Given the description of an element on the screen output the (x, y) to click on. 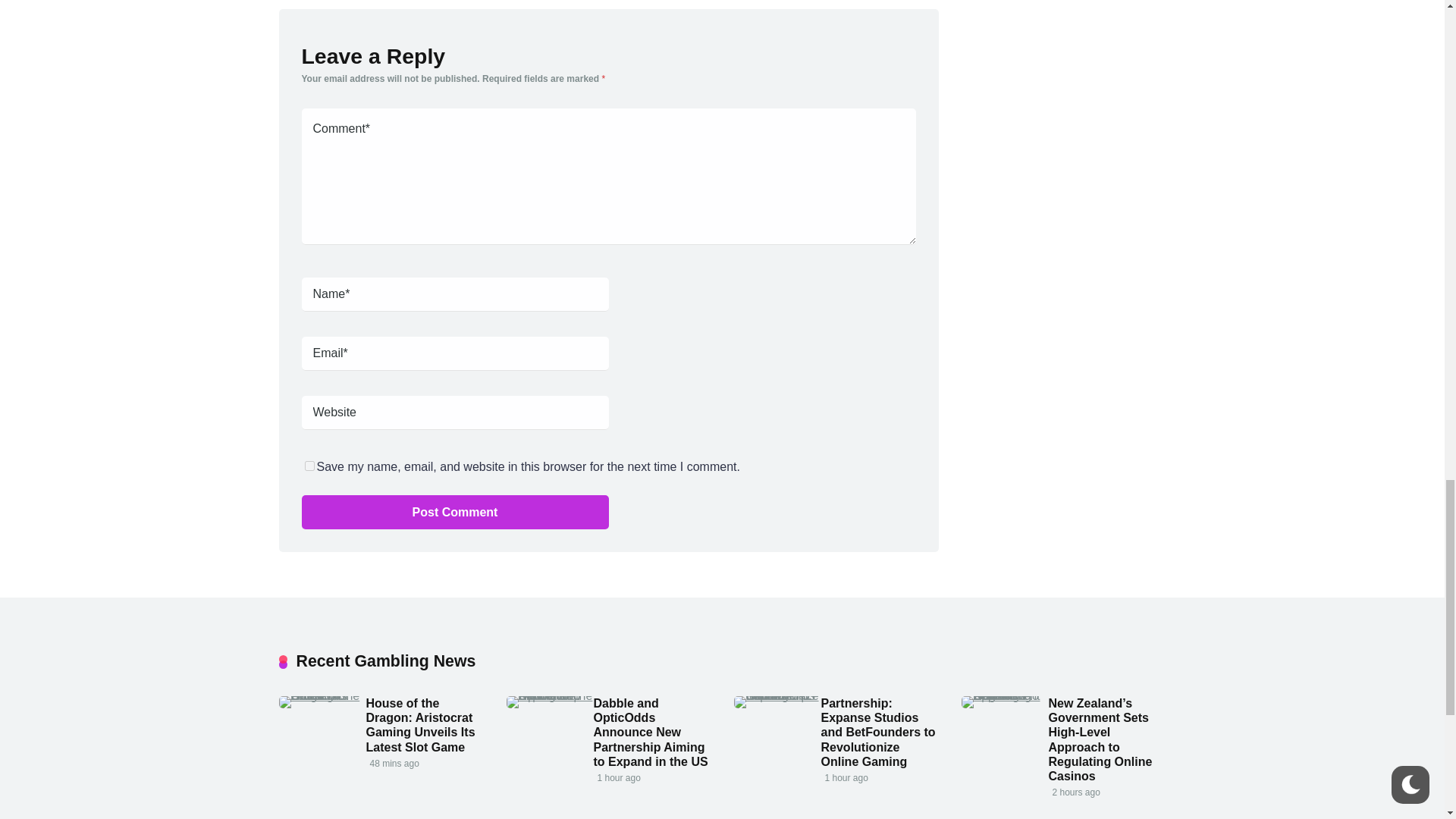
Post Comment (454, 512)
yes (309, 465)
Post Comment (454, 512)
